Given the description of an element on the screen output the (x, y) to click on. 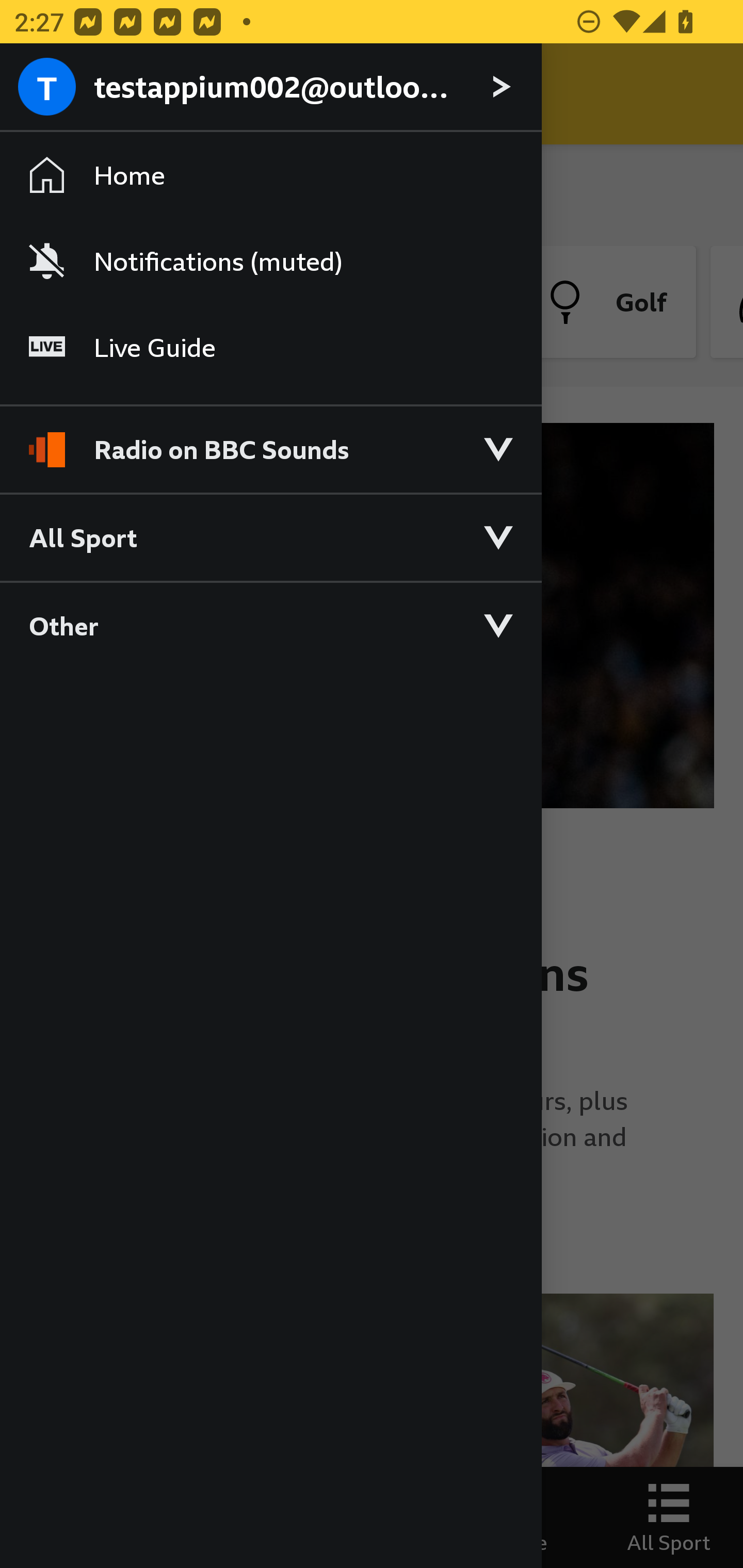
Close Menu (50, 93)
testappium002@outlook.com (270, 87)
Home (270, 174)
Notifications (muted) (270, 260)
Live Guide (270, 347)
Radio on BBC Sounds (270, 441)
All Sport (270, 536)
Other (270, 624)
